Given the description of an element on the screen output the (x, y) to click on. 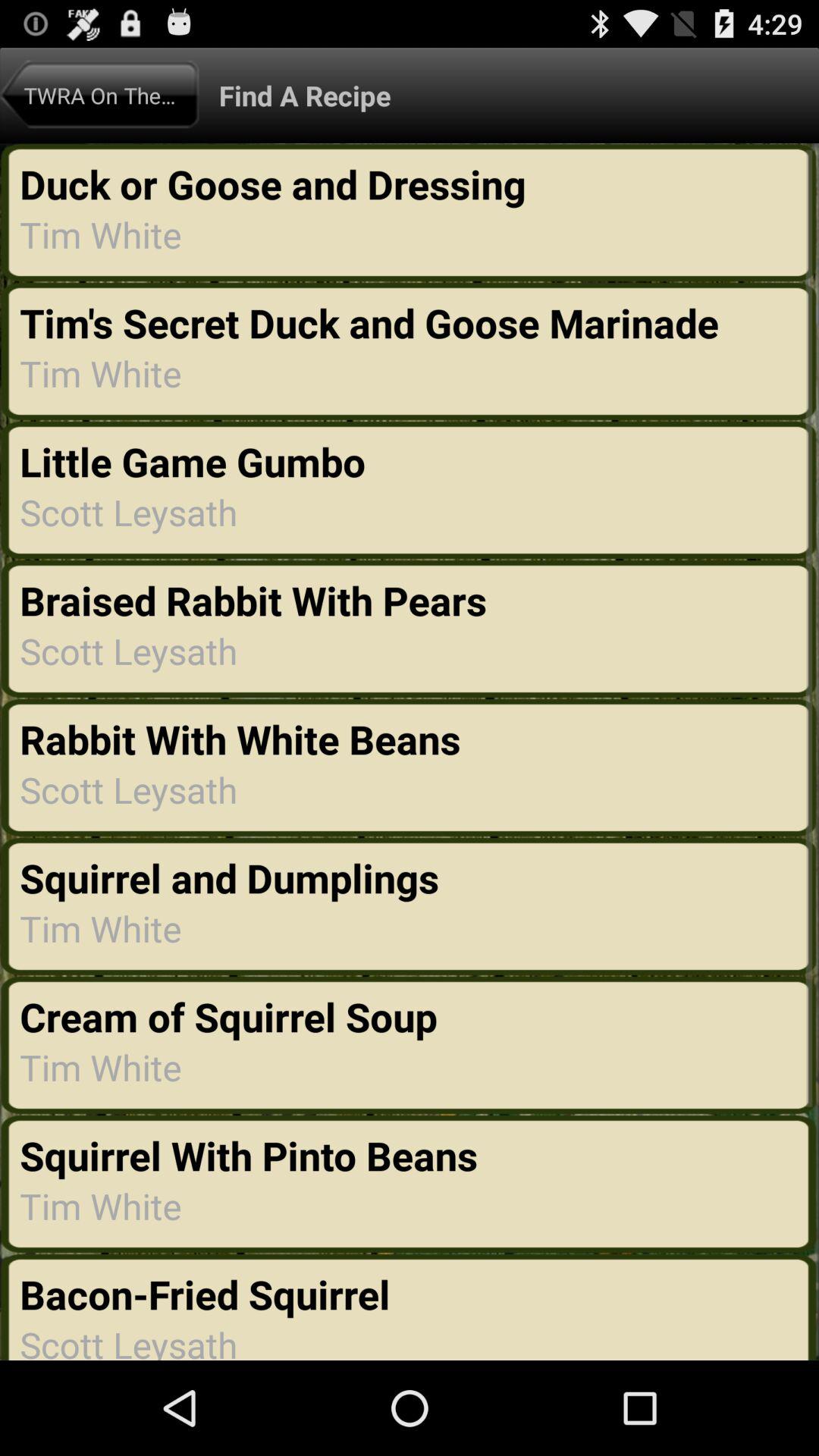
tap the little game gumbo  item (197, 461)
